Given the description of an element on the screen output the (x, y) to click on. 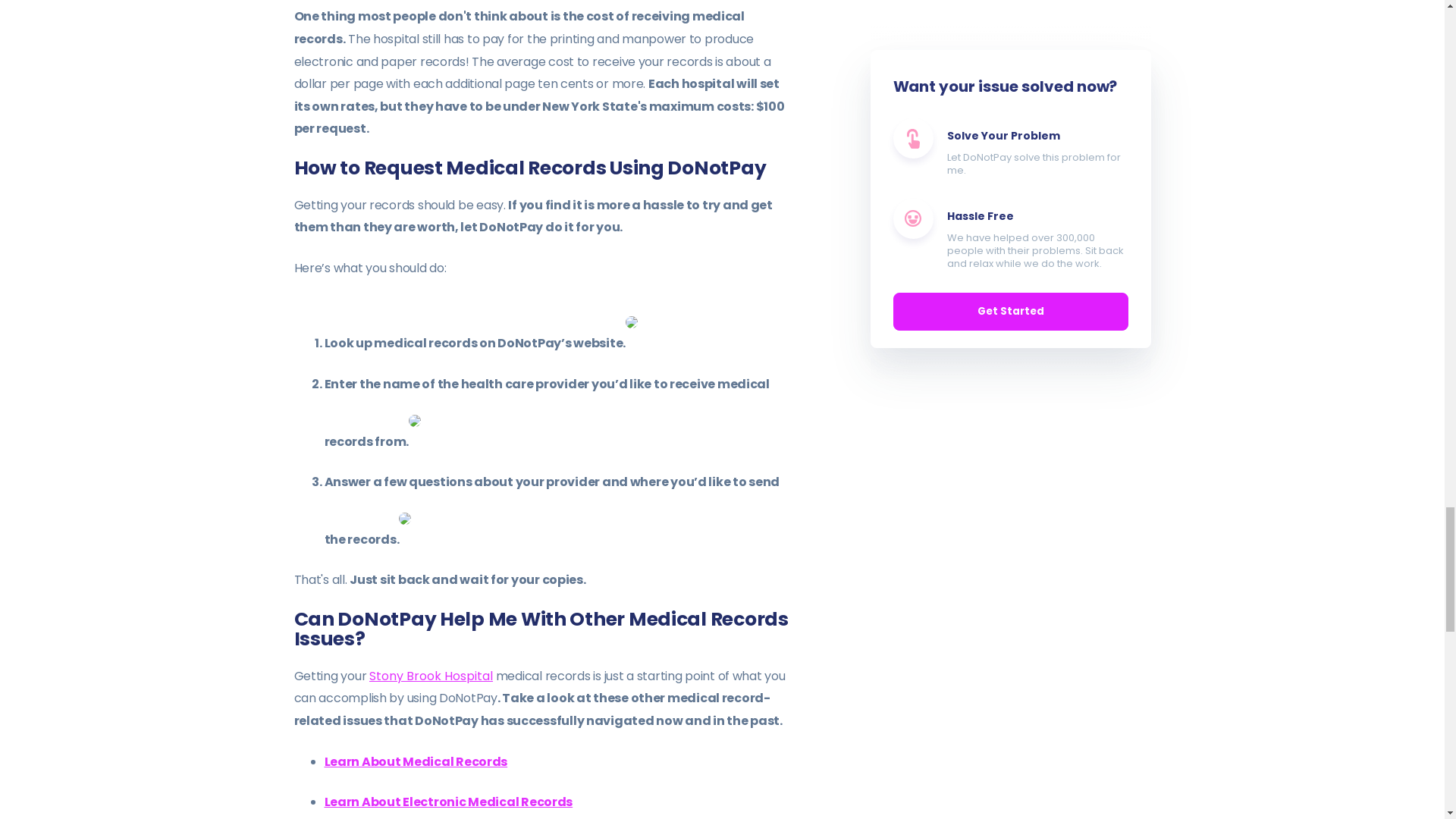
Stony Brook Hospital (431, 675)
Learn About Medical Records (416, 761)
Learn About Electronic Medical Records (448, 801)
